Given the description of an element on the screen output the (x, y) to click on. 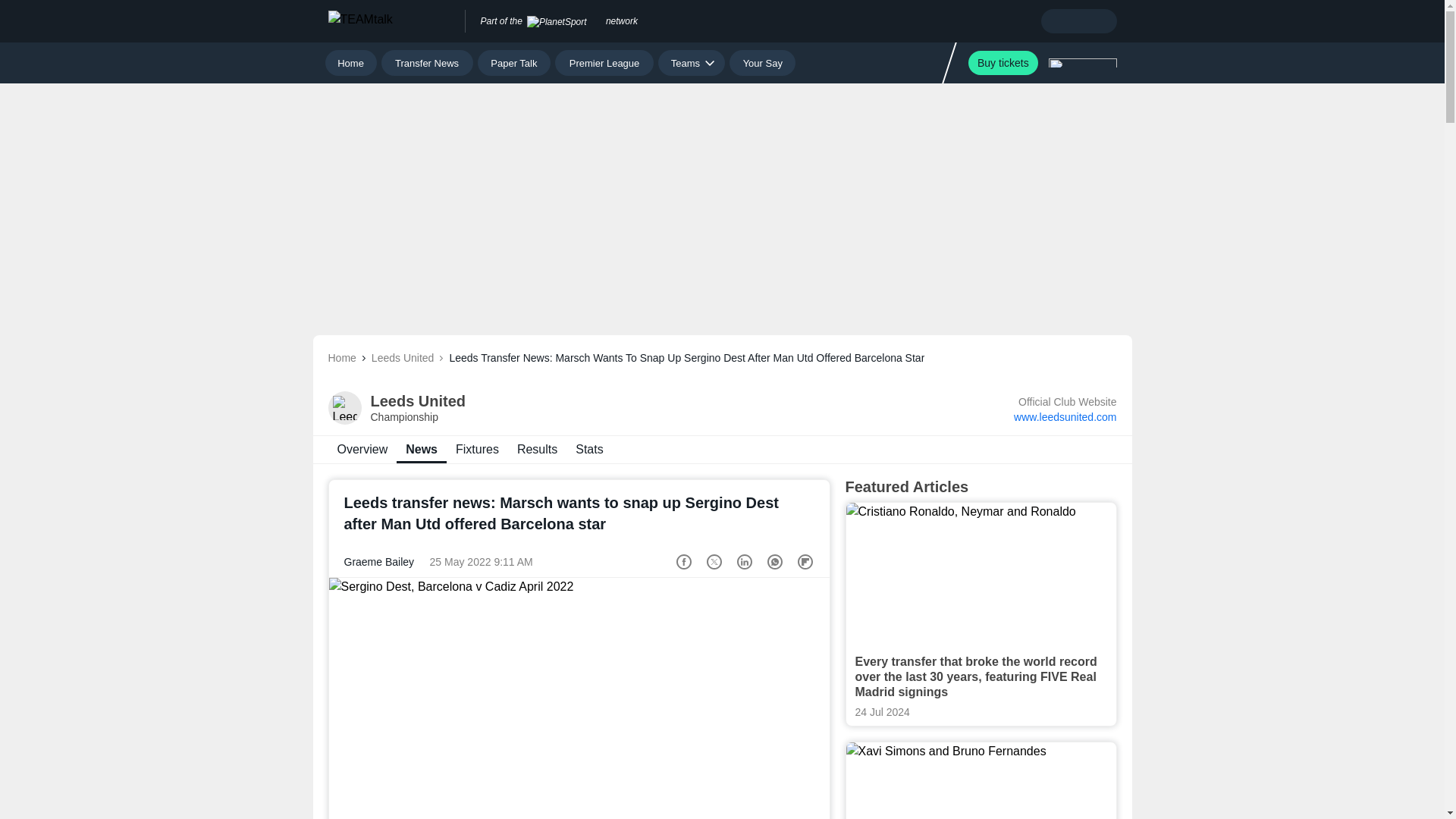
Your Say (761, 62)
Posts by Graeme Bailey (378, 562)
Leeds United Transfer News (361, 449)
Leeds United Fixtures (477, 449)
Leeds United Results (537, 449)
Paper Talk (514, 62)
Leeds United Stats (722, 449)
Teams (588, 449)
Transfer News (691, 62)
Premier League (427, 62)
Buy tickets (603, 62)
Home (1003, 62)
Leeds United News (349, 62)
